Given the description of an element on the screen output the (x, y) to click on. 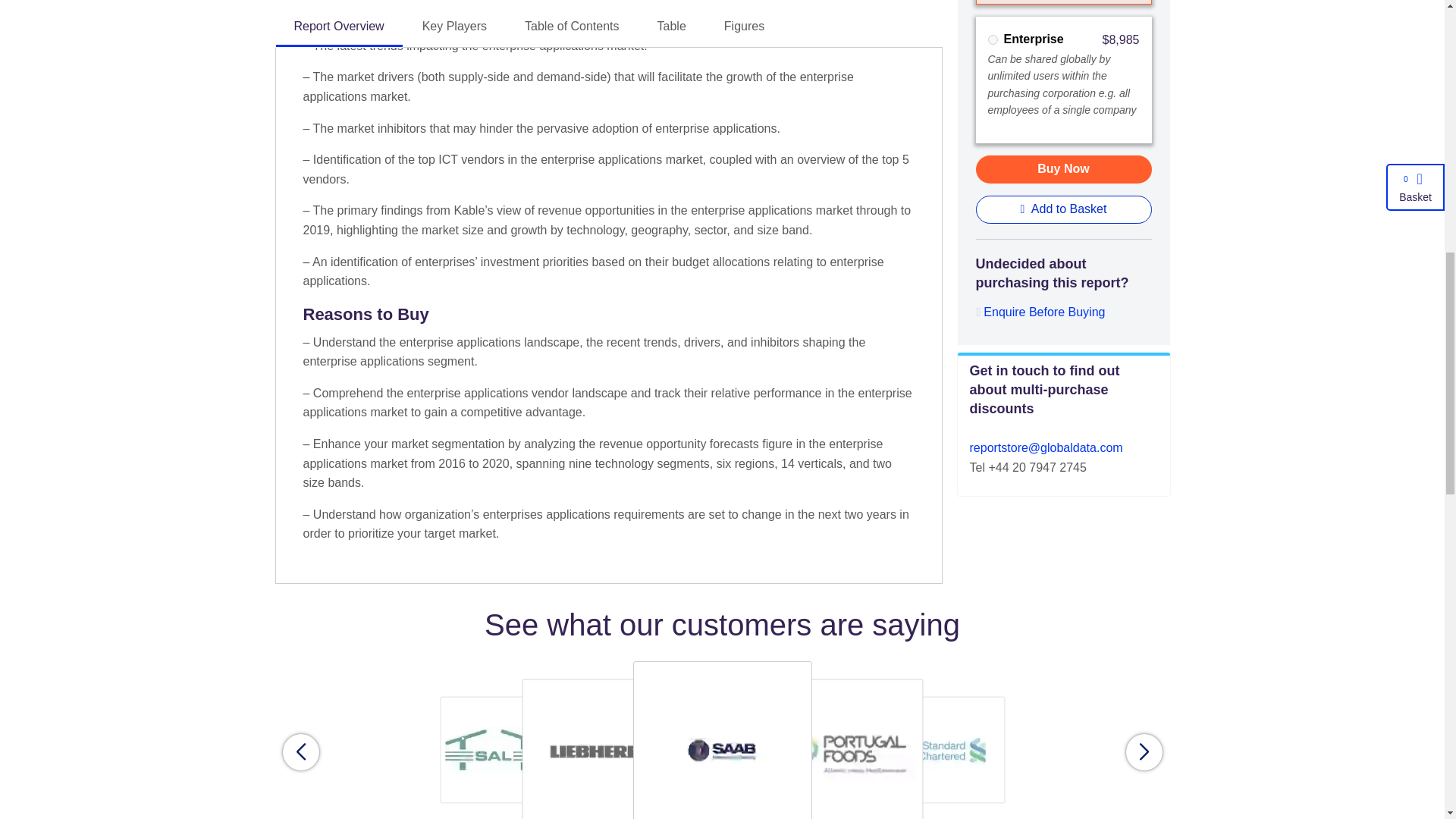
895847 (992, 40)
